Given the description of an element on the screen output the (x, y) to click on. 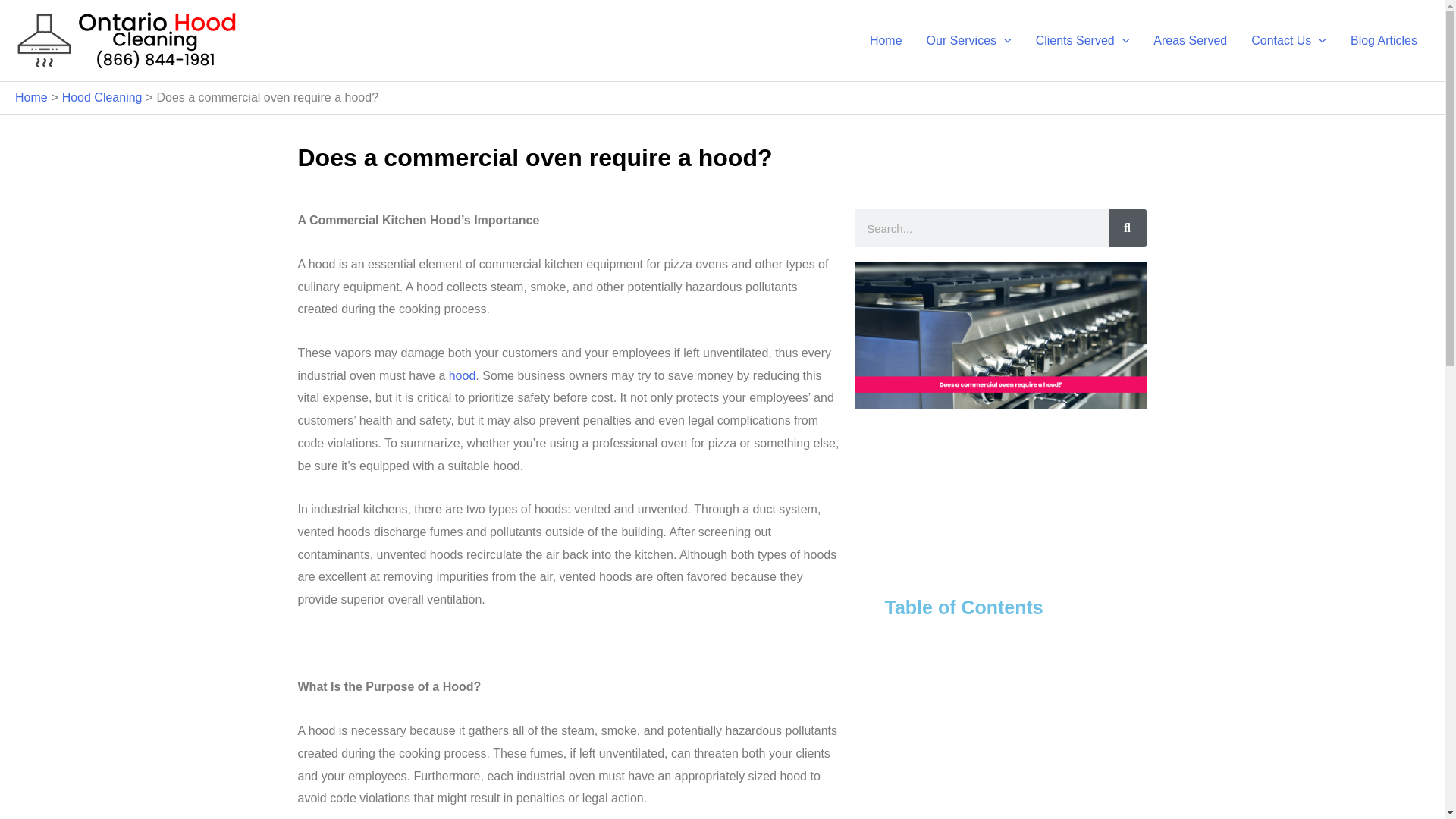
Areas Served (1190, 39)
Our Services (968, 39)
Clients Served (1082, 39)
Home (885, 39)
hood (462, 375)
Contact Us (1288, 39)
Blog Articles (1383, 39)
